Given the description of an element on the screen output the (x, y) to click on. 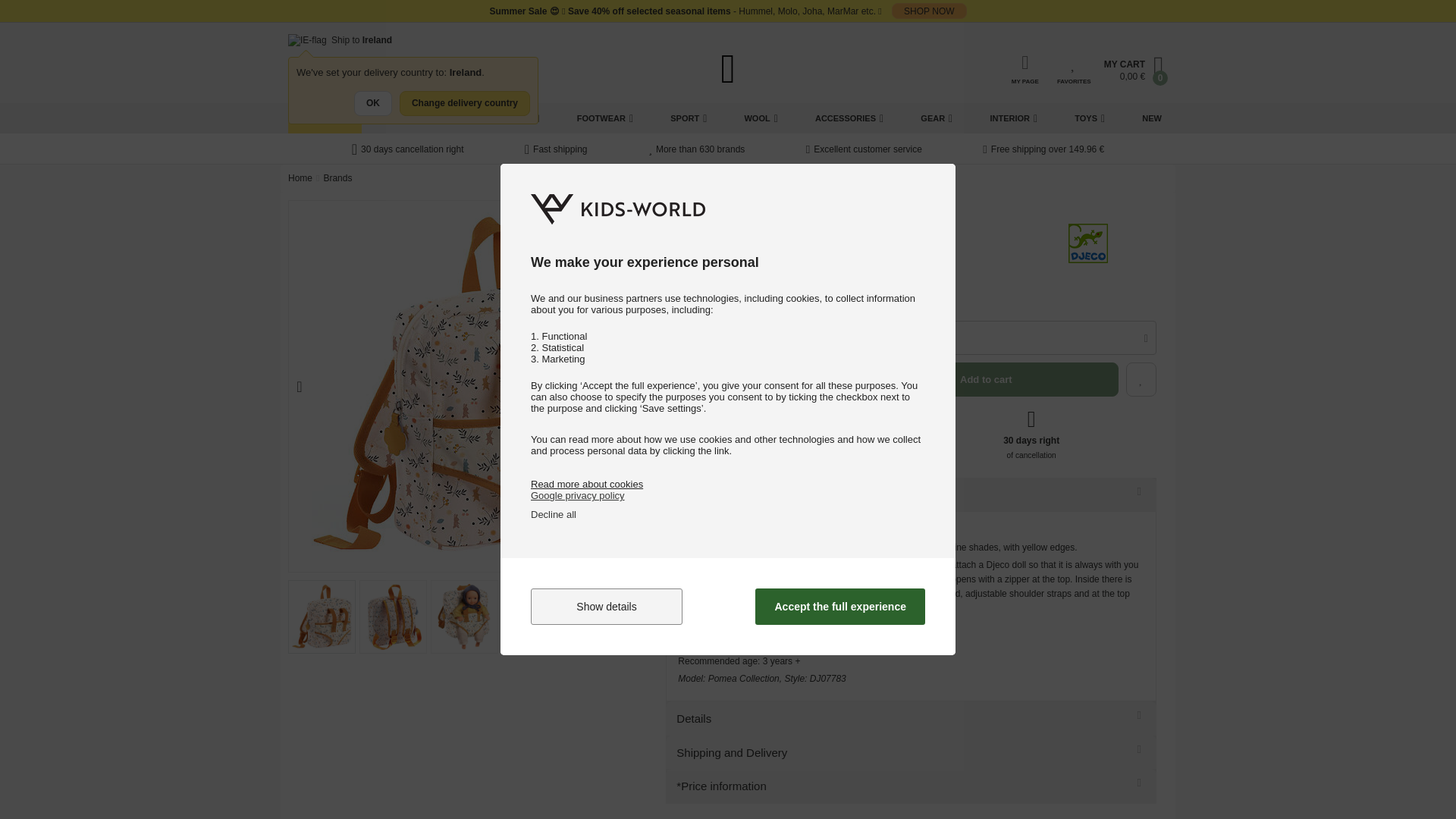
Read more about cookies (587, 483)
Google privacy policy (577, 495)
Decline all (553, 514)
Accept the full experience (839, 606)
Show details (606, 606)
1 (687, 337)
